Given the description of an element on the screen output the (x, y) to click on. 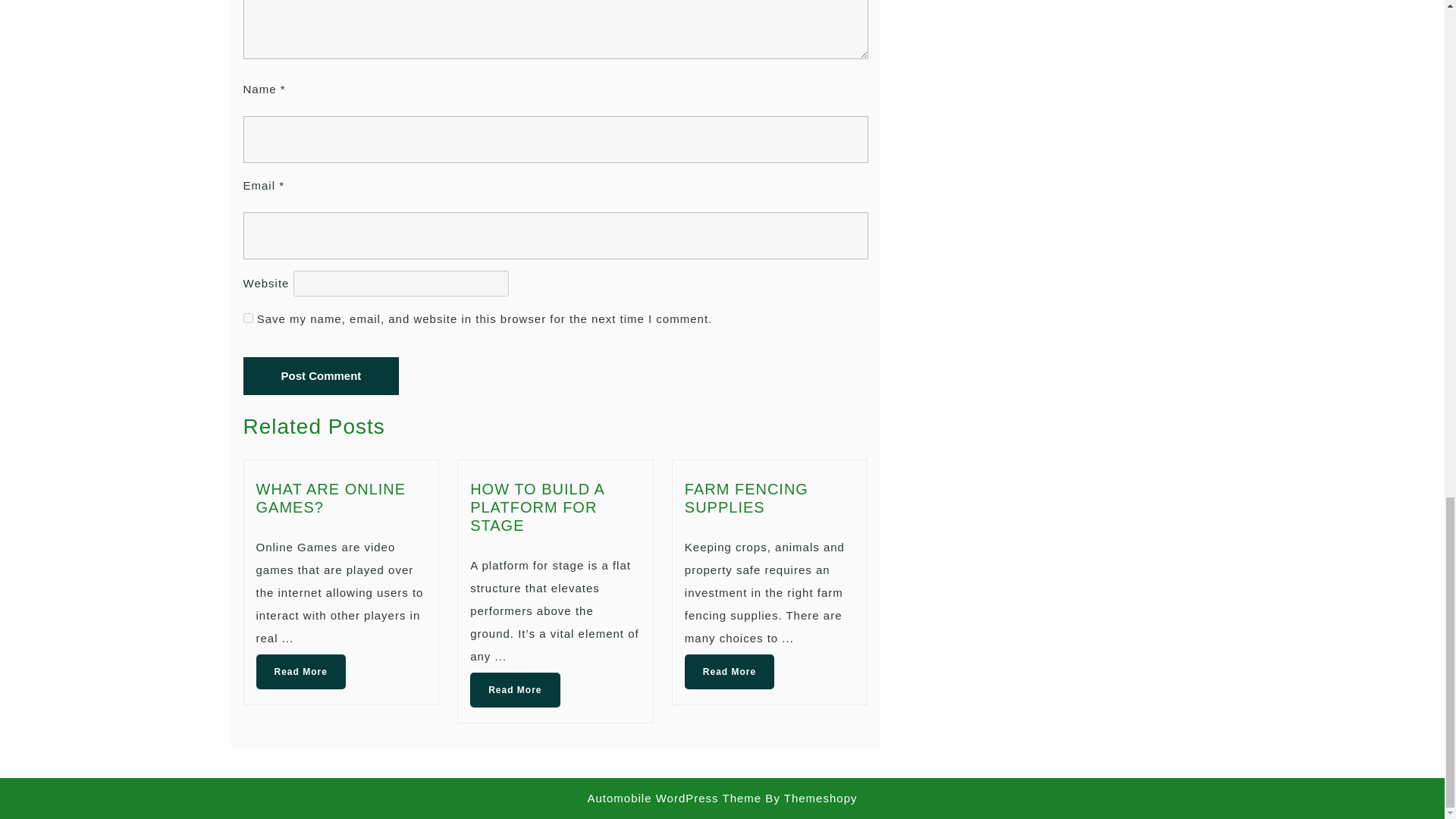
Automobile WordPress Theme (673, 797)
yes (247, 317)
WHAT ARE ONLINE GAMES? (331, 497)
Read More (729, 671)
Read More (301, 671)
Post Comment (320, 375)
HOW TO BUILD A PLATFORM FOR STAGE (537, 506)
FARM FENCING SUPPLIES (746, 497)
Post Comment (320, 375)
Read More (514, 689)
